Given the description of an element on the screen output the (x, y) to click on. 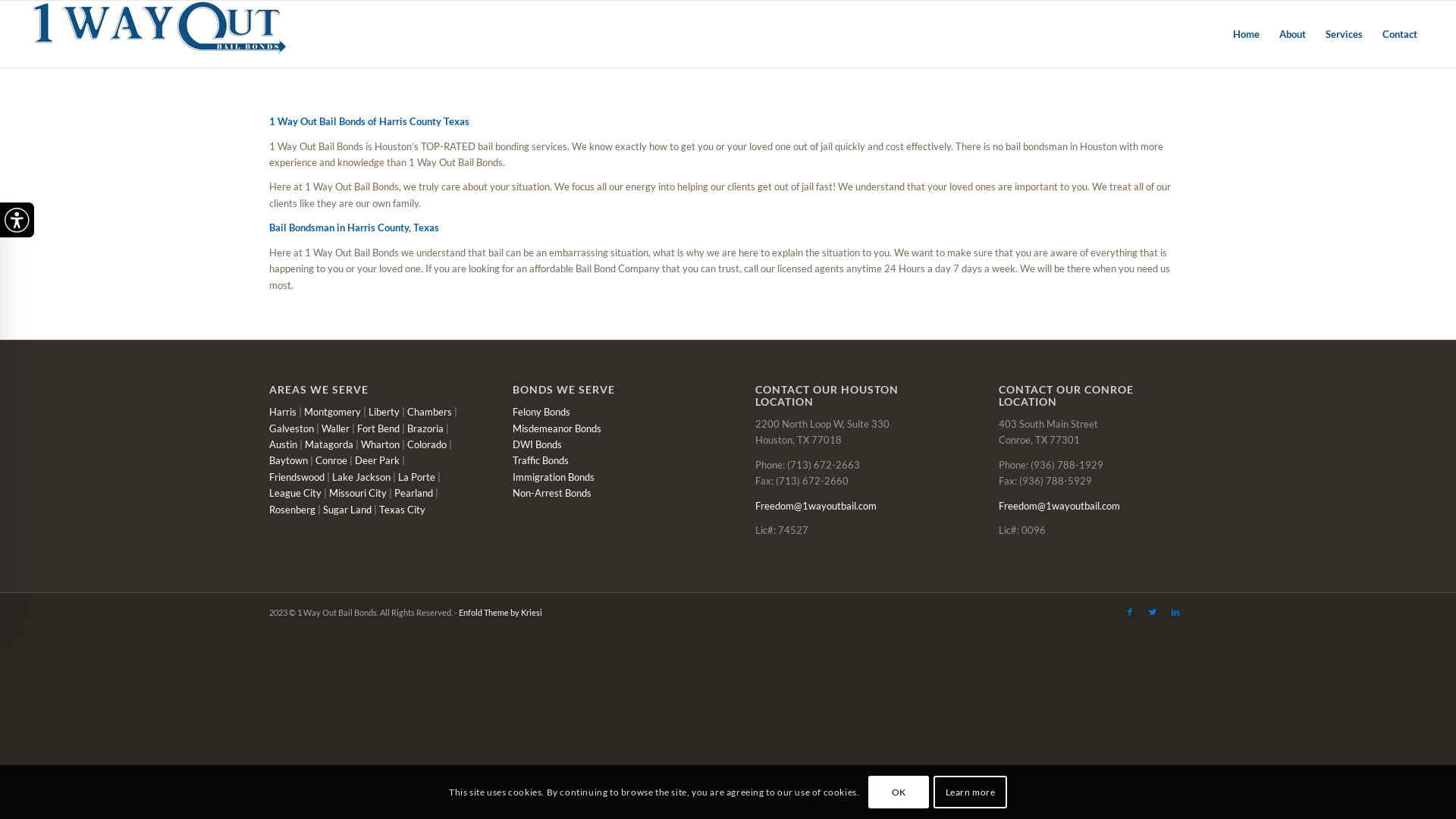
Chambers Element type: text (429, 411)
Felony Bonds Element type: text (541, 411)
About Element type: text (1292, 33)
Sugar Land Element type: text (345, 509)
Colorado Element type: text (426, 444)
Deer Park Element type: text (376, 460)
Waller Element type: text (335, 428)
OK Element type: text (898, 791)
Wharton Element type: text (379, 444)
Freedom@1wayoutbail.com Element type: text (815, 505)
Lake Jackson Element type: text (361, 476)
LinkedIn Element type: hover (1175, 611)
Misdemeanor Bonds Element type: text (556, 428)
Immigration Bonds Element type: text (553, 476)
Matagorda Element type: text (328, 444)
Liberty Element type: text (383, 411)
Harris Element type: text (282, 411)
Galveston Element type: text (291, 428)
Traffic Bonds Element type: text (540, 460)
DWI Bonds Element type: text (536, 444)
Austin Element type: text (283, 444)
Non-Arrest Bonds Element type: text (551, 492)
Texas City Element type: text (402, 509)
Brazoria Element type: text (425, 428)
La Porte Element type: text (416, 476)
Rosenberg Element type: text (292, 509)
Baytown Element type: text (288, 460)
Pearland Element type: text (413, 492)
League City Element type: text (295, 492)
Montgomery Element type: text (332, 411)
Services Element type: text (1343, 33)
Home Element type: text (1246, 33)
Contact Element type: text (1399, 33)
Fort Bend Element type: text (378, 428)
Enfold Theme by Kriesi Element type: text (500, 612)
Conroe Element type: text (331, 460)
Learn more Element type: text (969, 791)
Missouri City Element type: text (357, 492)
Friendswood Element type: text (296, 476)
Twitter Element type: hover (1152, 611)
Facebook Element type: hover (1129, 611)
Freedom@1wayoutbail.com Element type: text (1059, 505)
